Given the description of an element on the screen output the (x, y) to click on. 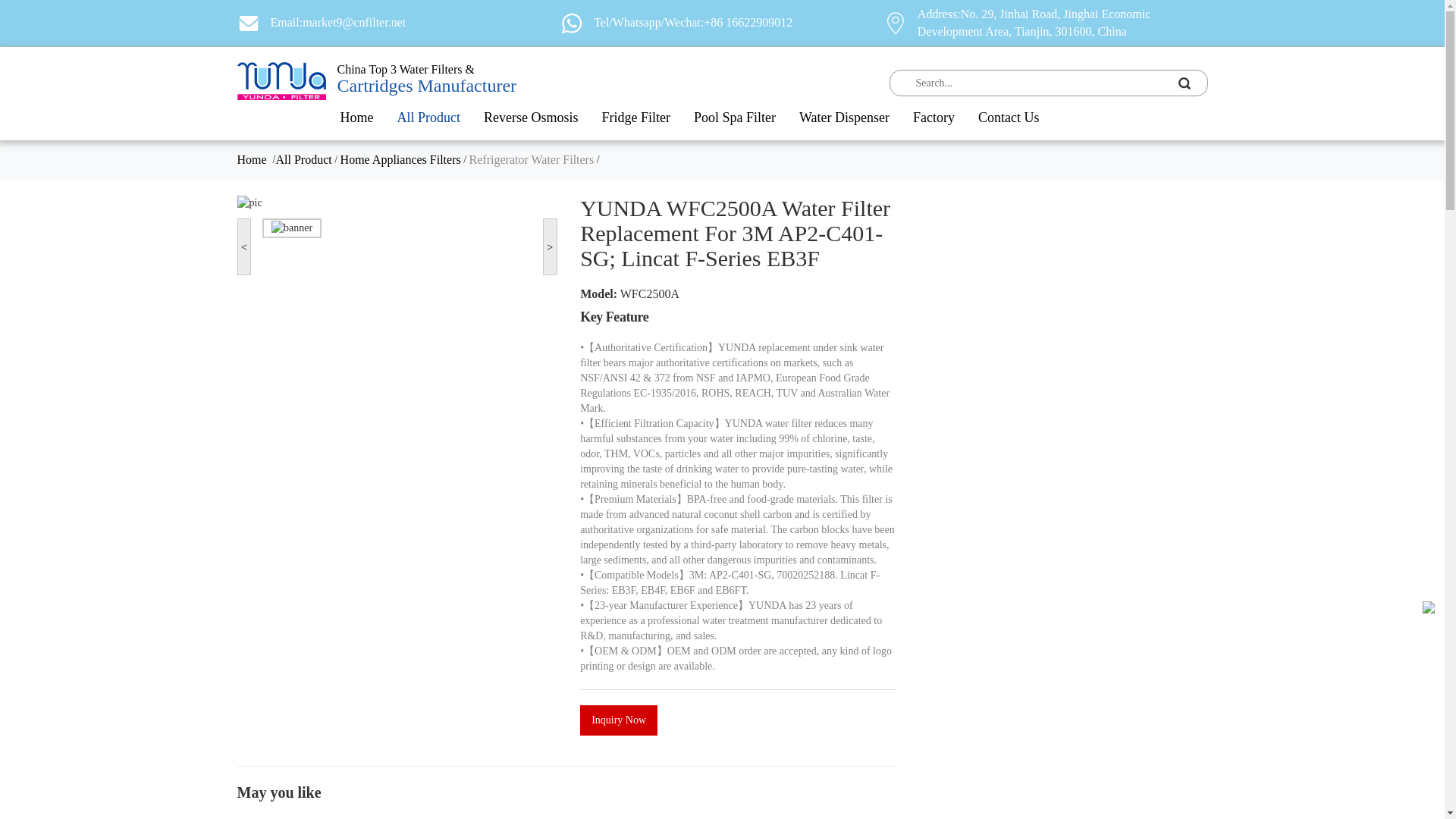
Home (355, 117)
All Product (429, 117)
